Given the description of an element on the screen output the (x, y) to click on. 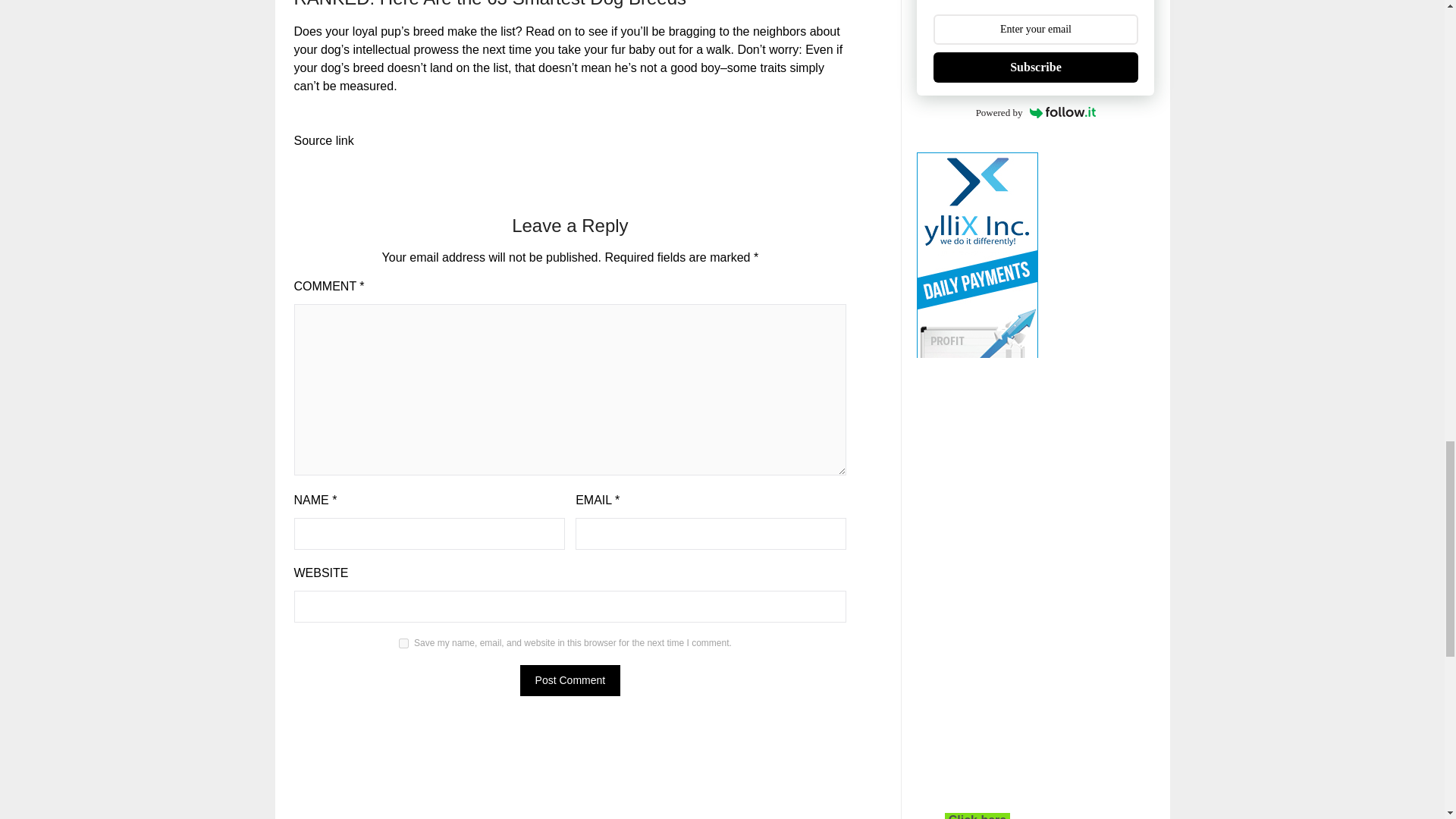
yes (403, 643)
Subscribe (1035, 67)
Powered by (1035, 112)
Post Comment (570, 680)
Source link (323, 140)
Post Comment (570, 680)
